Given the description of an element on the screen output the (x, y) to click on. 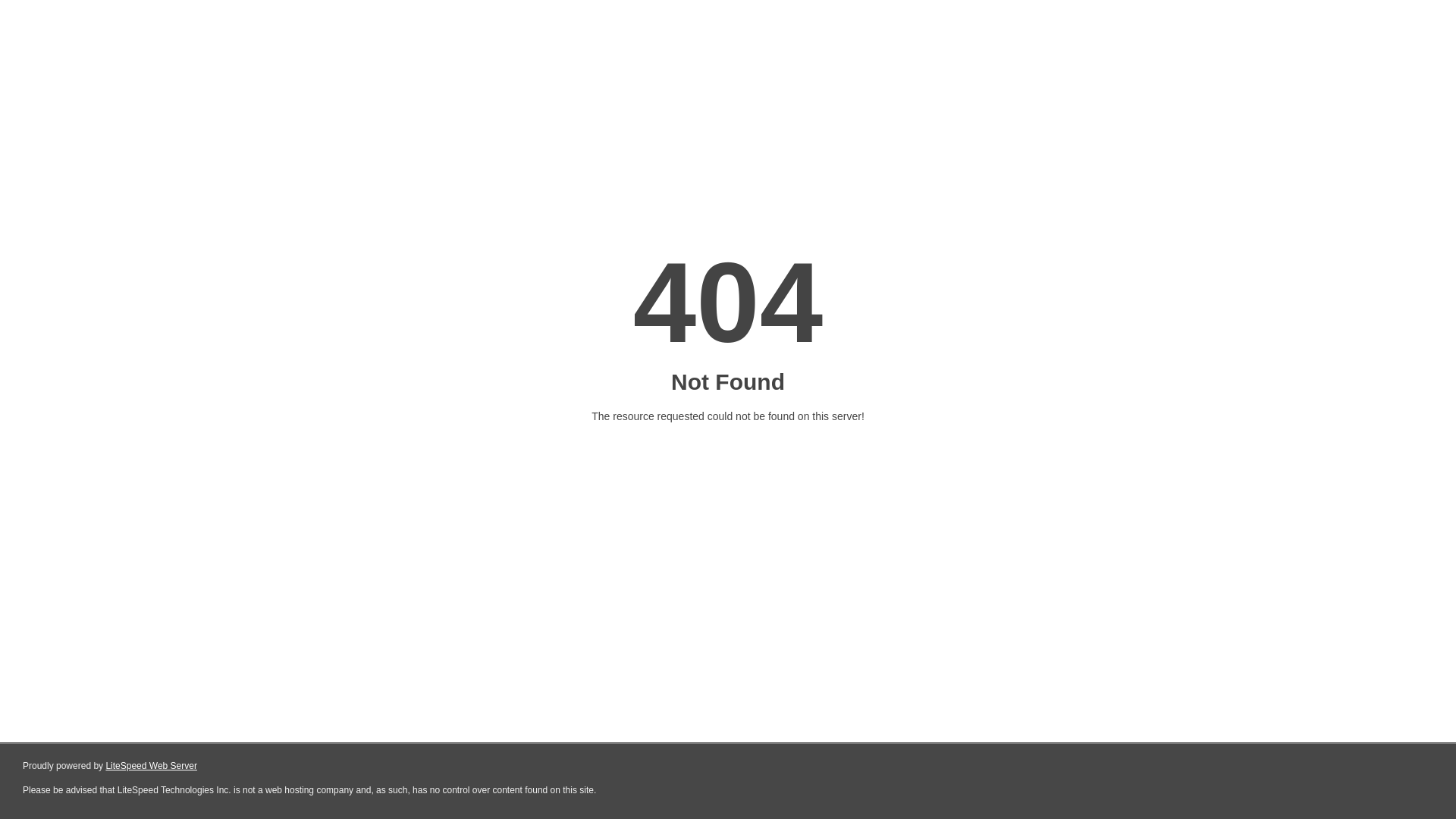
LiteSpeed Web Server Element type: text (151, 765)
